Given the description of an element on the screen output the (x, y) to click on. 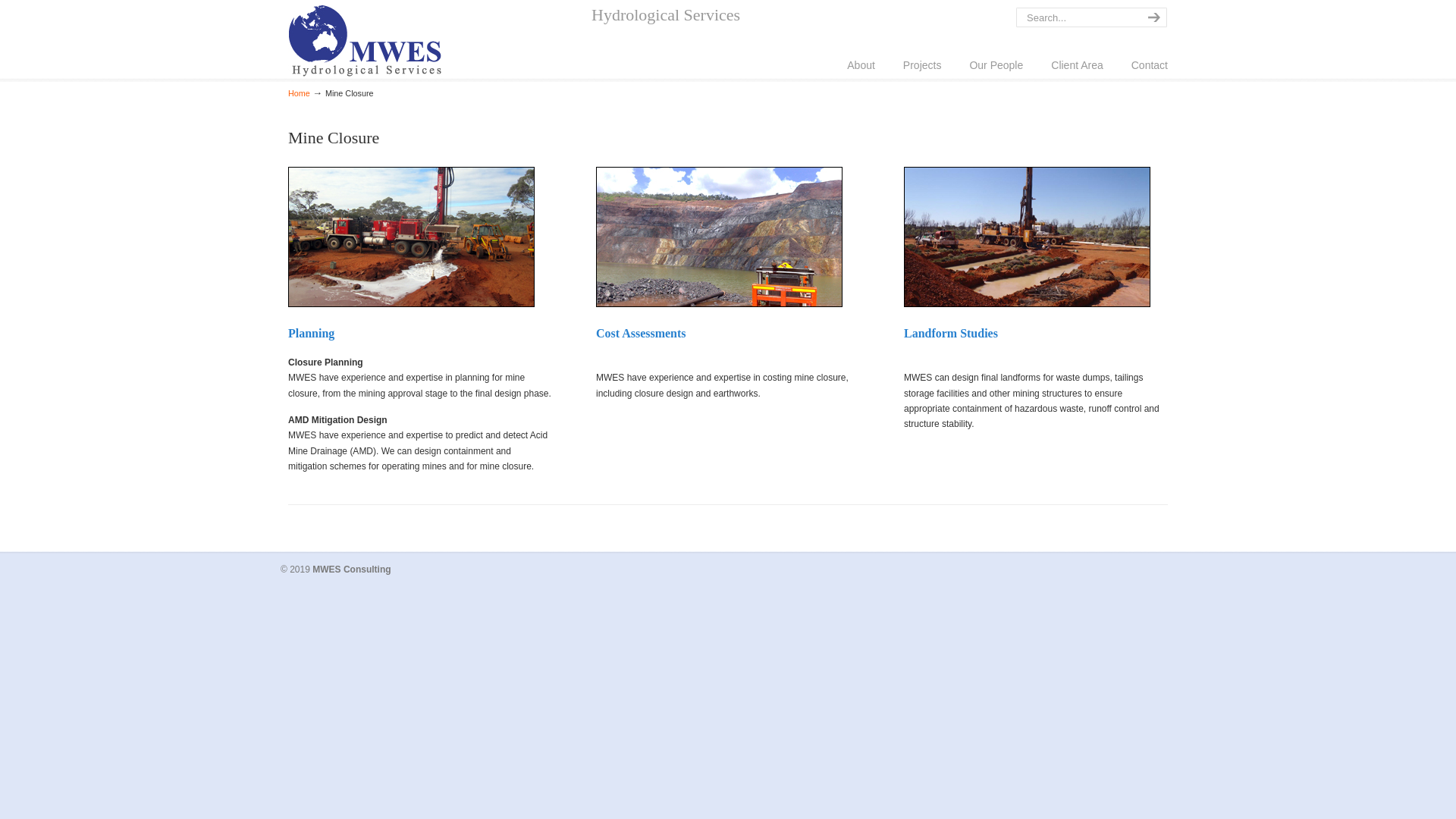
MWES Consulting Element type: text (365, 40)
Home Element type: text (299, 92)
Client Area Element type: text (1076, 65)
Our People Element type: text (995, 65)
About Element type: text (860, 65)
search Element type: text (1151, 17)
Contact Element type: text (1149, 65)
Projects Element type: text (922, 65)
